Given the description of an element on the screen output the (x, y) to click on. 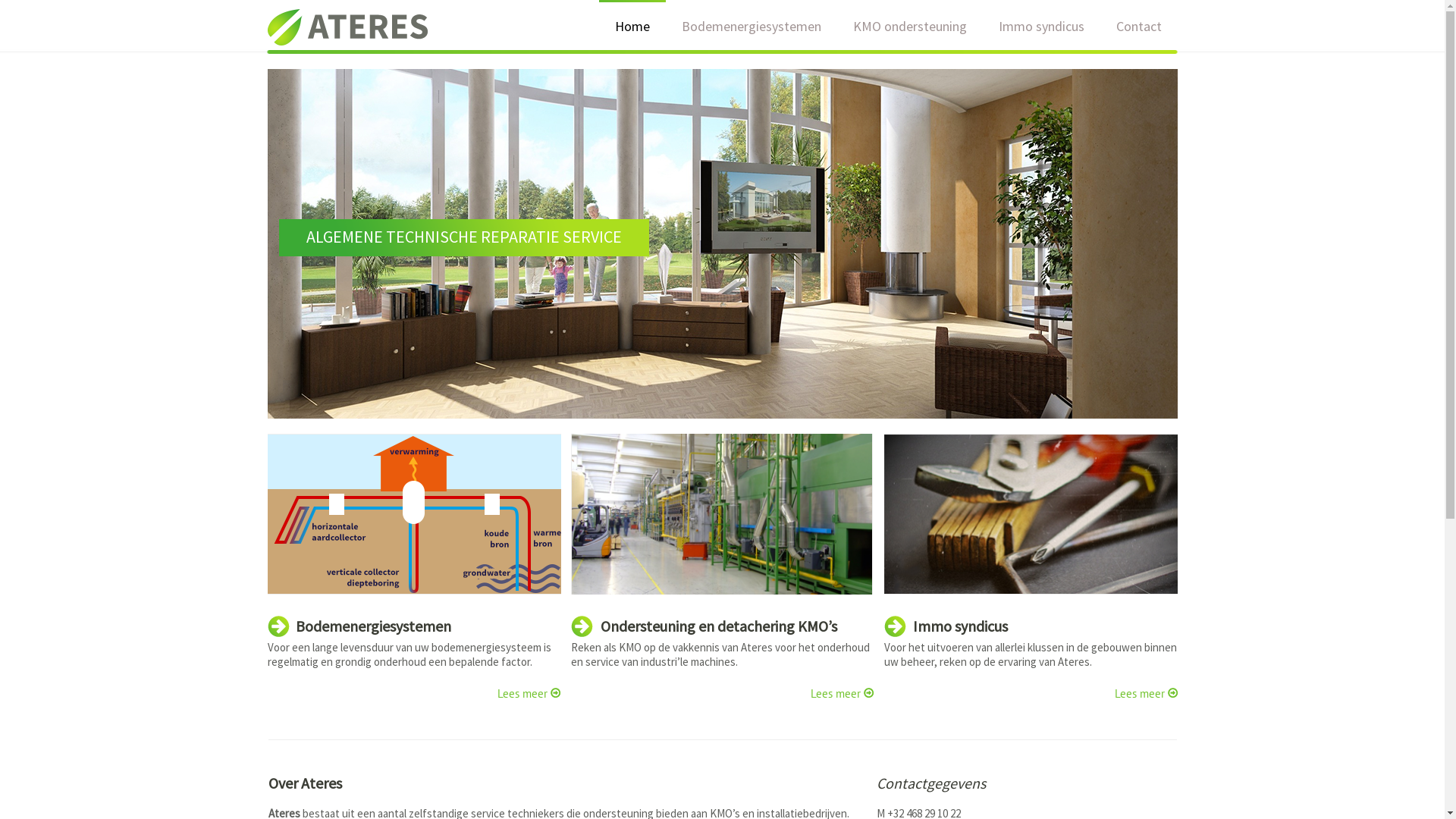
KMO ondersteuning Element type: text (909, 26)
Immo syndicus Element type: text (1041, 26)
Bodemenergiesystemen Element type: text (751, 26)
Lees meer  Element type: text (1145, 693)
Contact Element type: text (1137, 26)
Home Element type: text (632, 26)
Lees meer  Element type: text (528, 693)
Lees meer  Element type: text (841, 693)
